Given the description of an element on the screen output the (x, y) to click on. 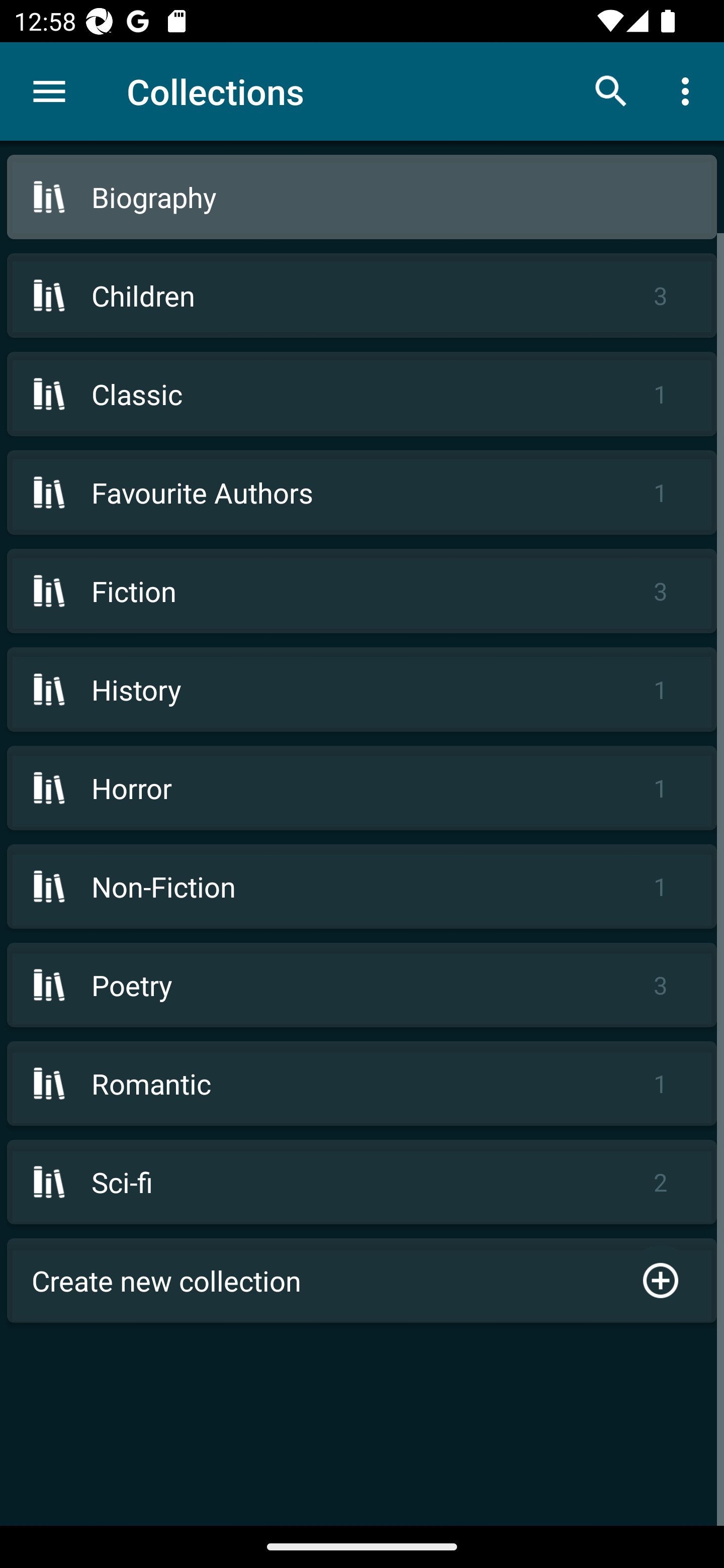
Menu (49, 91)
Search books & documents (611, 90)
More options (688, 90)
Biography (361, 197)
Children 3 (361, 295)
Classic 1 (361, 393)
Favourite Authors 1 (361, 492)
Fiction 3 (361, 590)
History 1 (361, 689)
Horror 1 (361, 787)
Non-Fiction 1 (361, 885)
Poetry 3 (361, 984)
Romantic 1 (361, 1083)
Sci-fi 2 (361, 1181)
Create new collection (361, 1280)
